Given the description of an element on the screen output the (x, y) to click on. 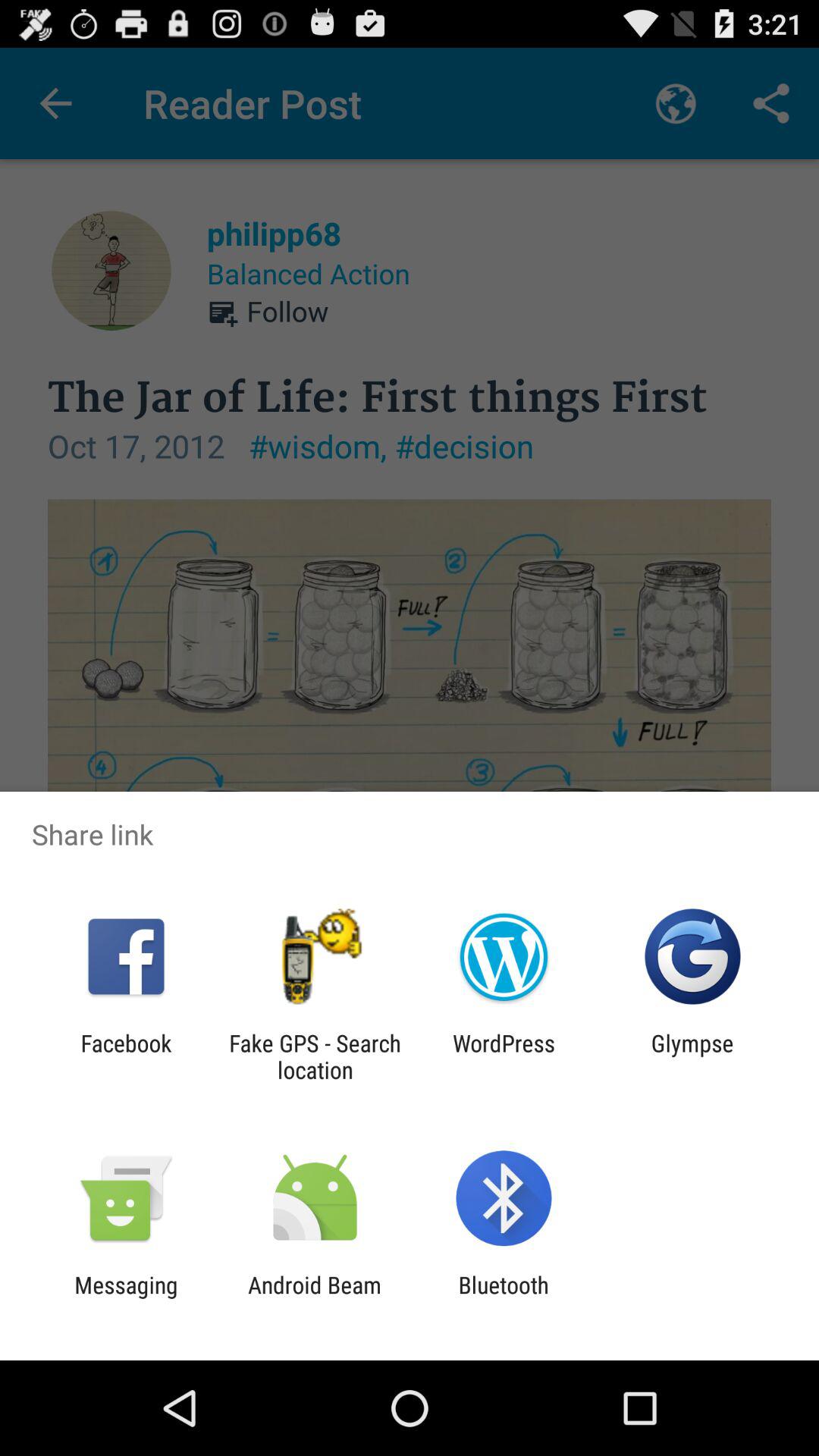
press the app next to the android beam app (126, 1298)
